Given the description of an element on the screen output the (x, y) to click on. 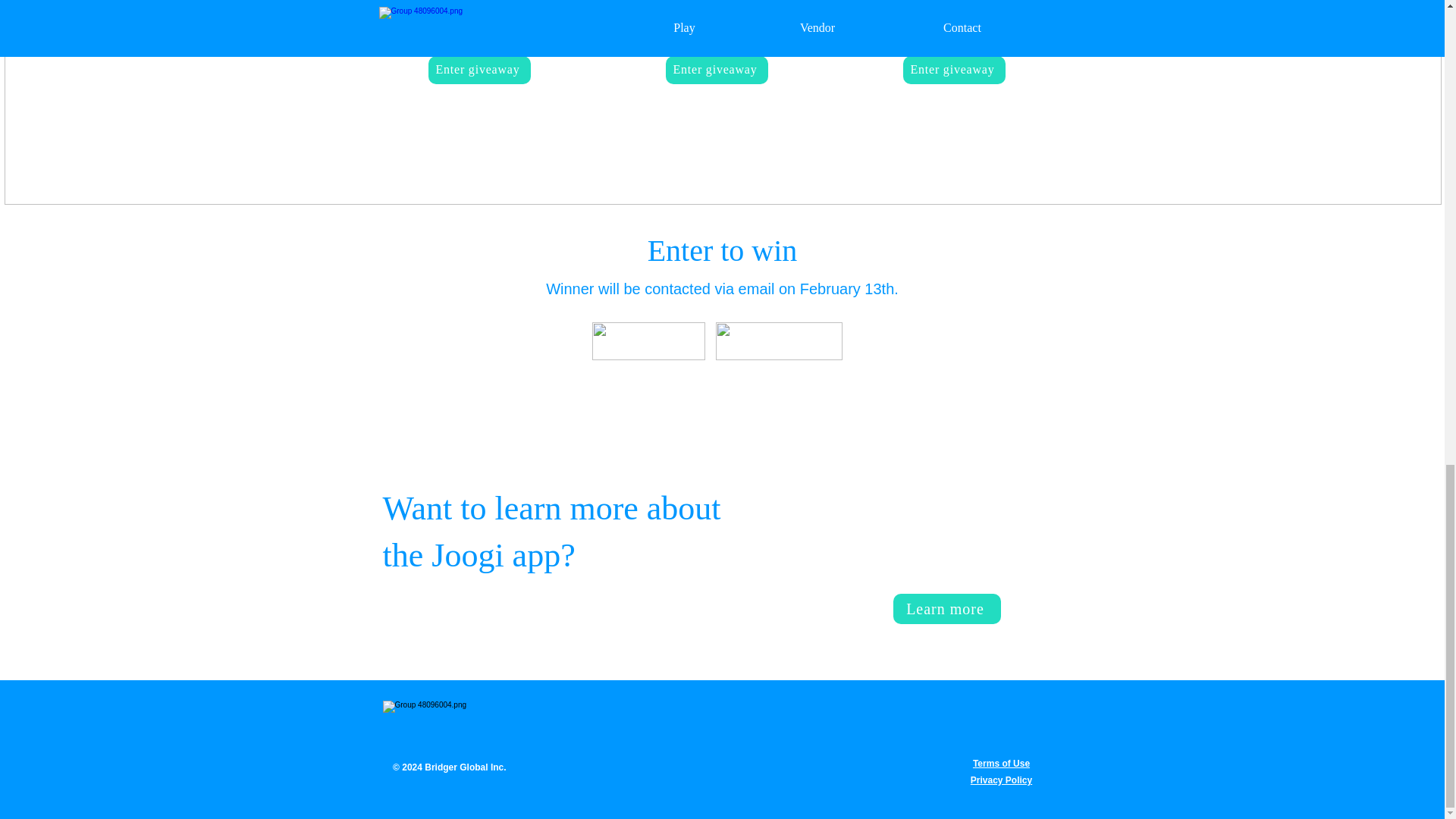
Enter giveaway (478, 70)
Enter giveaway (716, 70)
Privacy Policy (1001, 779)
Learn more (947, 608)
Enter giveaway (953, 70)
Terms of Use (1000, 763)
